Given the description of an element on the screen output the (x, y) to click on. 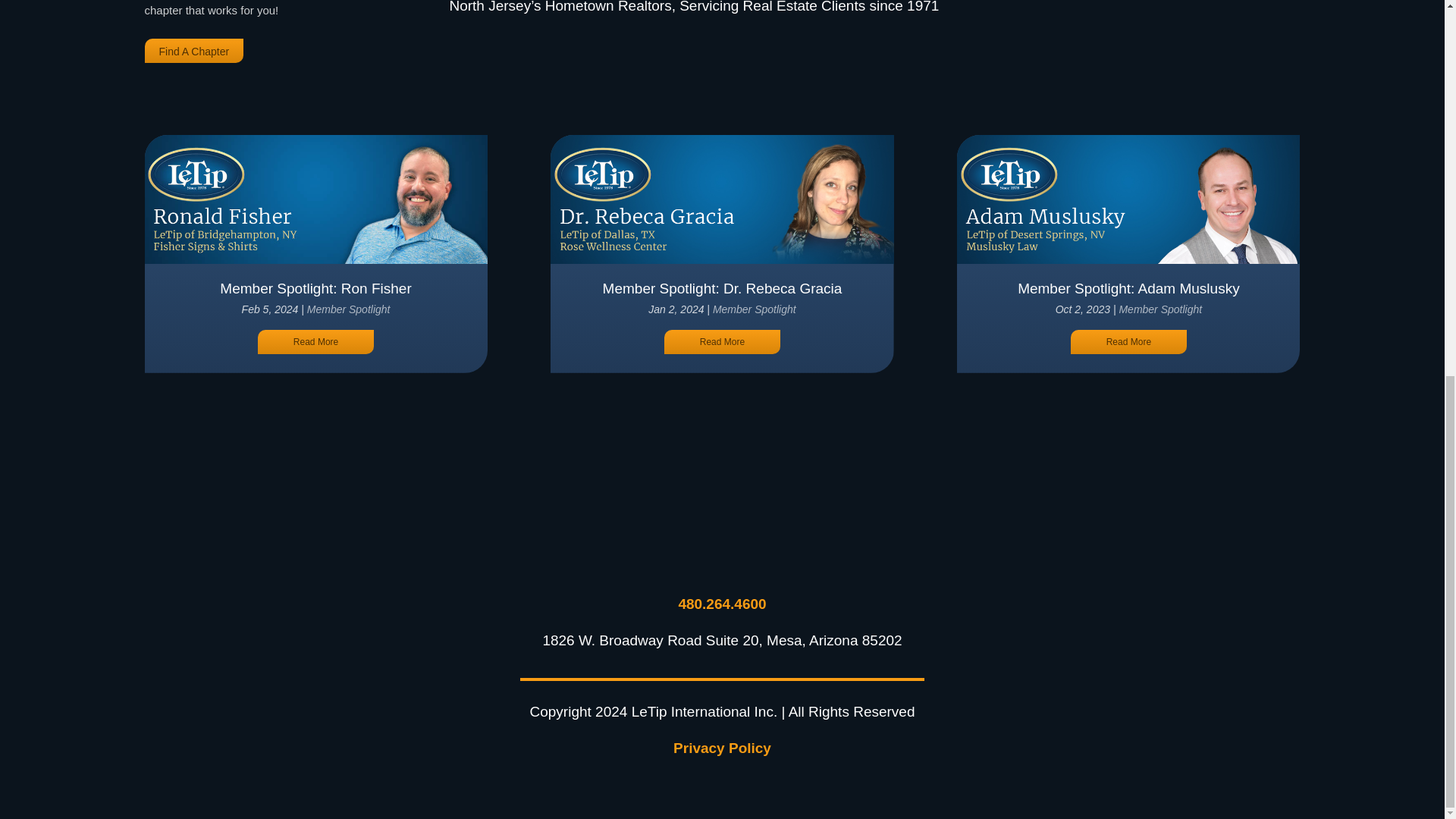
letip-logo-white (721, 542)
